Given the description of an element on the screen output the (x, y) to click on. 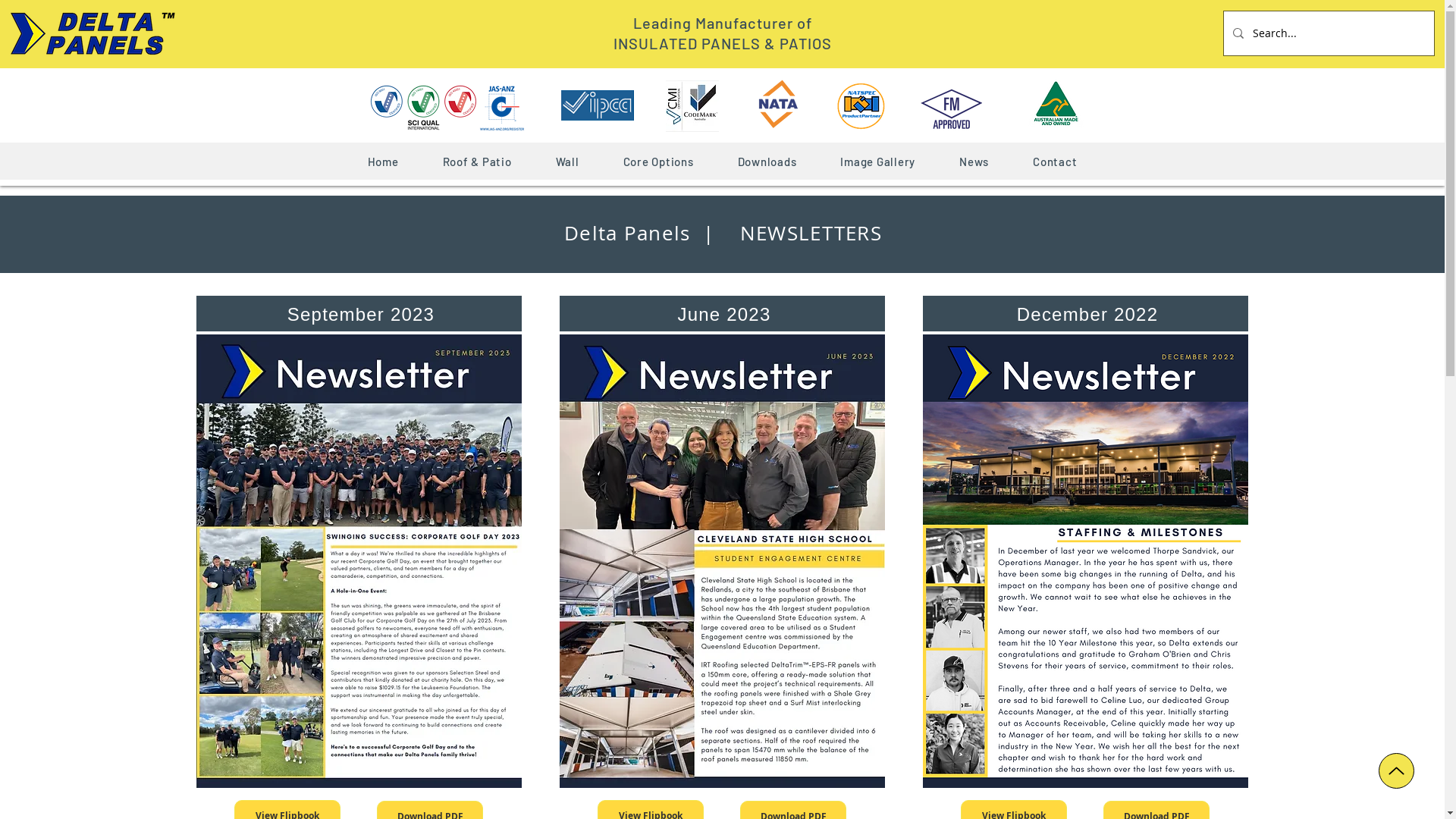
Image Gallery Element type: text (877, 161)
Contact Element type: text (1054, 161)
Home Element type: text (382, 161)
Core Options Element type: text (658, 161)
NATA.png Element type: hover (777, 103)
